Given the description of an element on the screen output the (x, y) to click on. 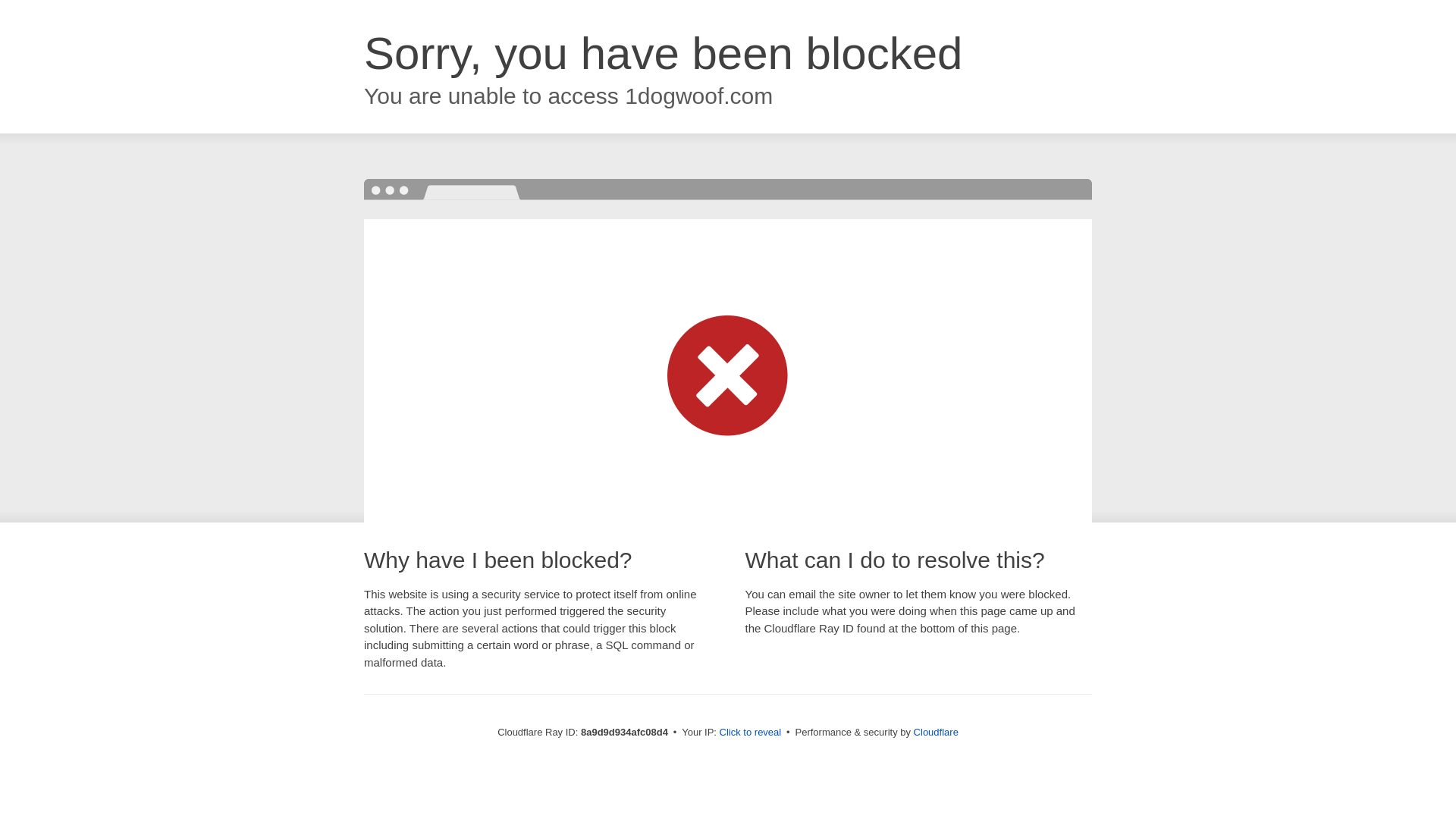
Cloudflare (936, 731)
Click to reveal (750, 732)
